Given the description of an element on the screen output the (x, y) to click on. 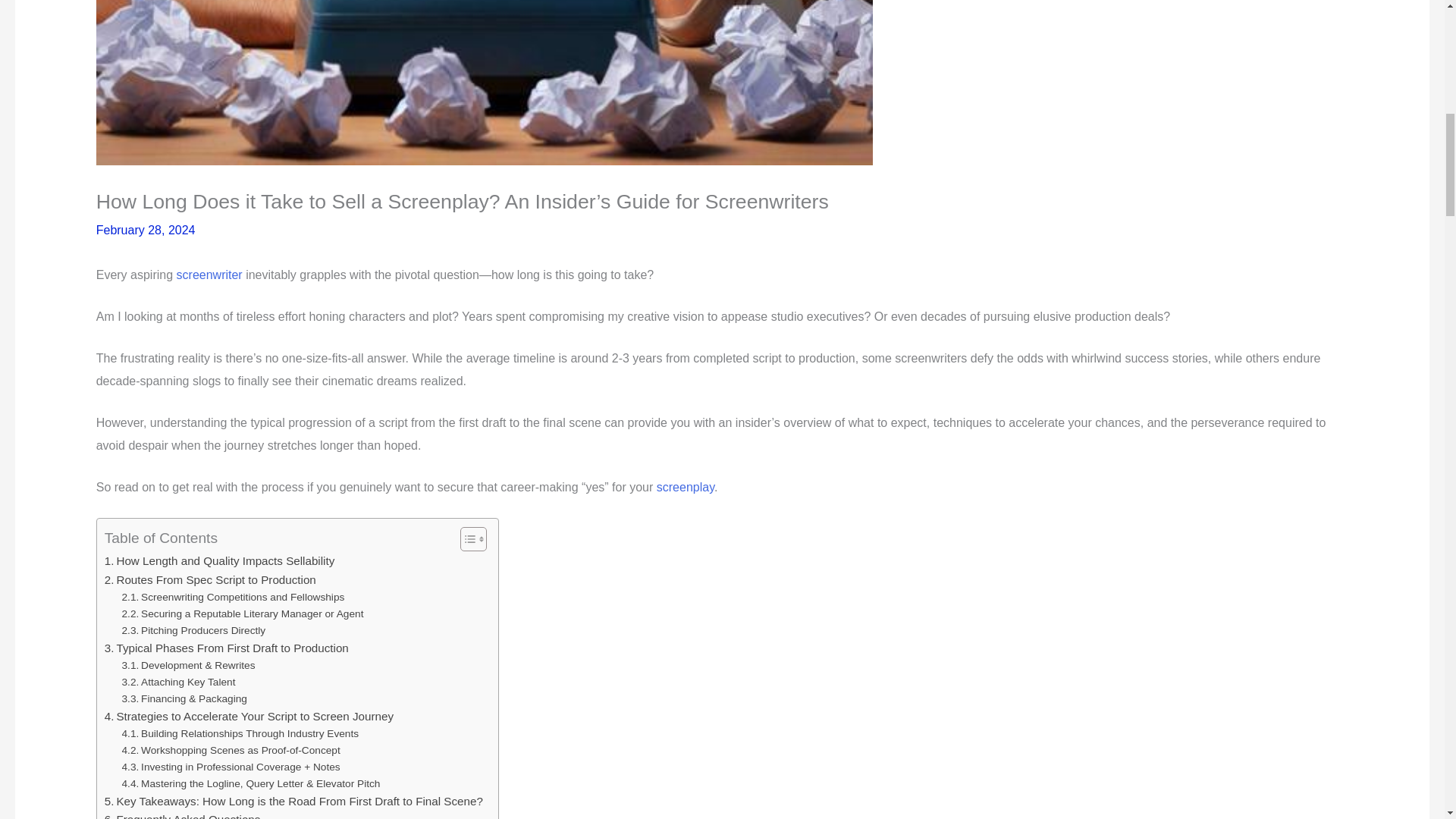
Securing a Reputable Literary Manager or Agent (243, 614)
How Length and Quality Impacts Sellability (219, 561)
Frequently Asked Questions (182, 814)
Screenwriting Competitions and Fellowships (233, 597)
screenwriter (209, 274)
How Length and Quality Impacts Sellability (219, 561)
Building Relationships Through Industry Events (240, 733)
Strategies to Accelerate Your Script to Screen Journey (248, 716)
Routes From Spec Script to Production (209, 579)
Typical Phases From First Draft to Production (226, 648)
Attaching Key Talent (178, 682)
Pitching Producers Directly (194, 630)
Building Relationships Through Industry Events (240, 733)
